Given the description of an element on the screen output the (x, y) to click on. 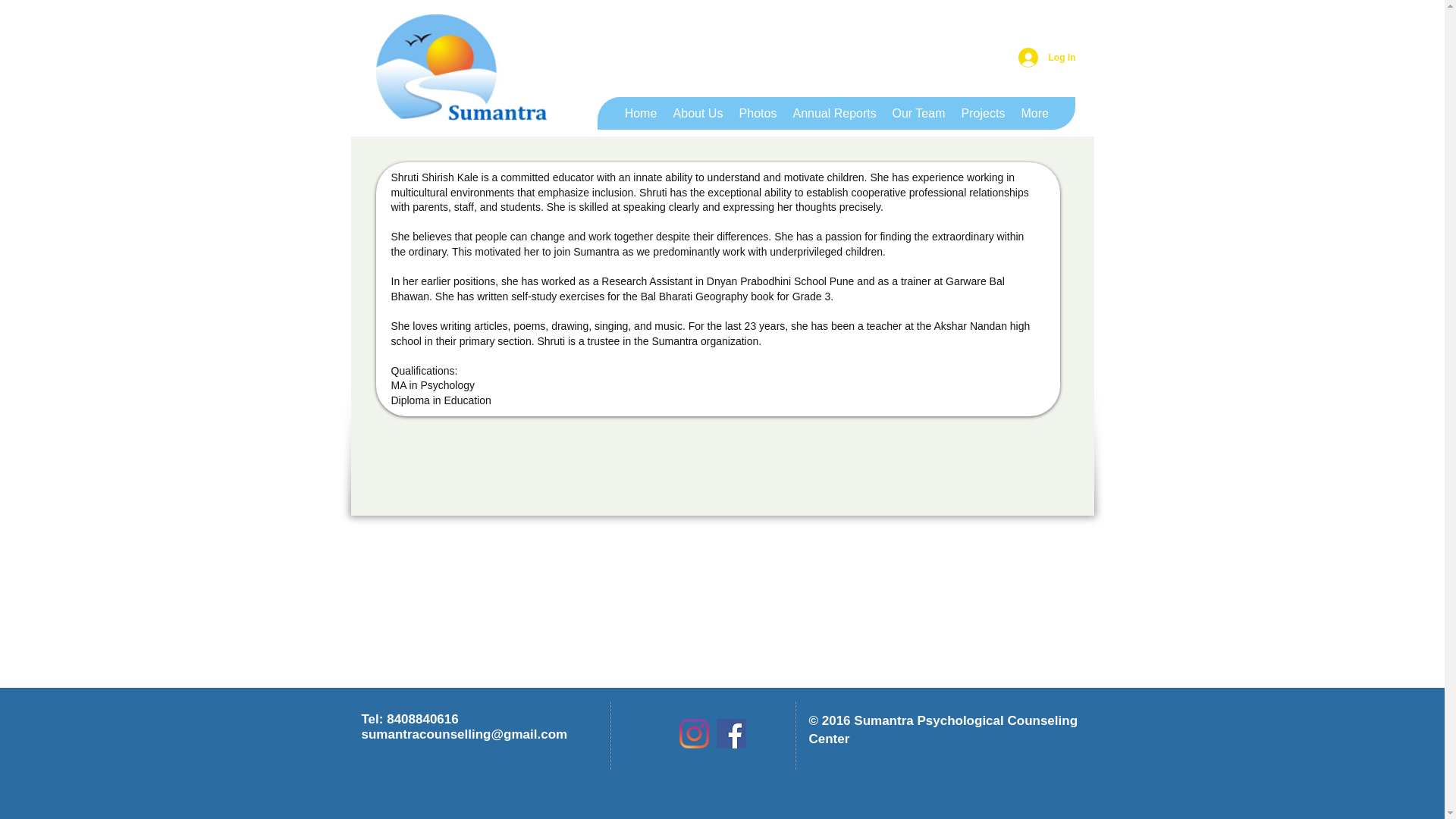
Log In Element type: text (1046, 57)
Photos Element type: text (757, 113)
sumantracounselling@gmail.com Element type: text (463, 734)
About Us Element type: text (697, 113)
Annual Reports Element type: text (833, 113)
logo.png Element type: hover (461, 71)
Home Element type: text (639, 113)
Projects Element type: text (982, 113)
Our Team Element type: text (918, 113)
